Given the description of an element on the screen output the (x, y) to click on. 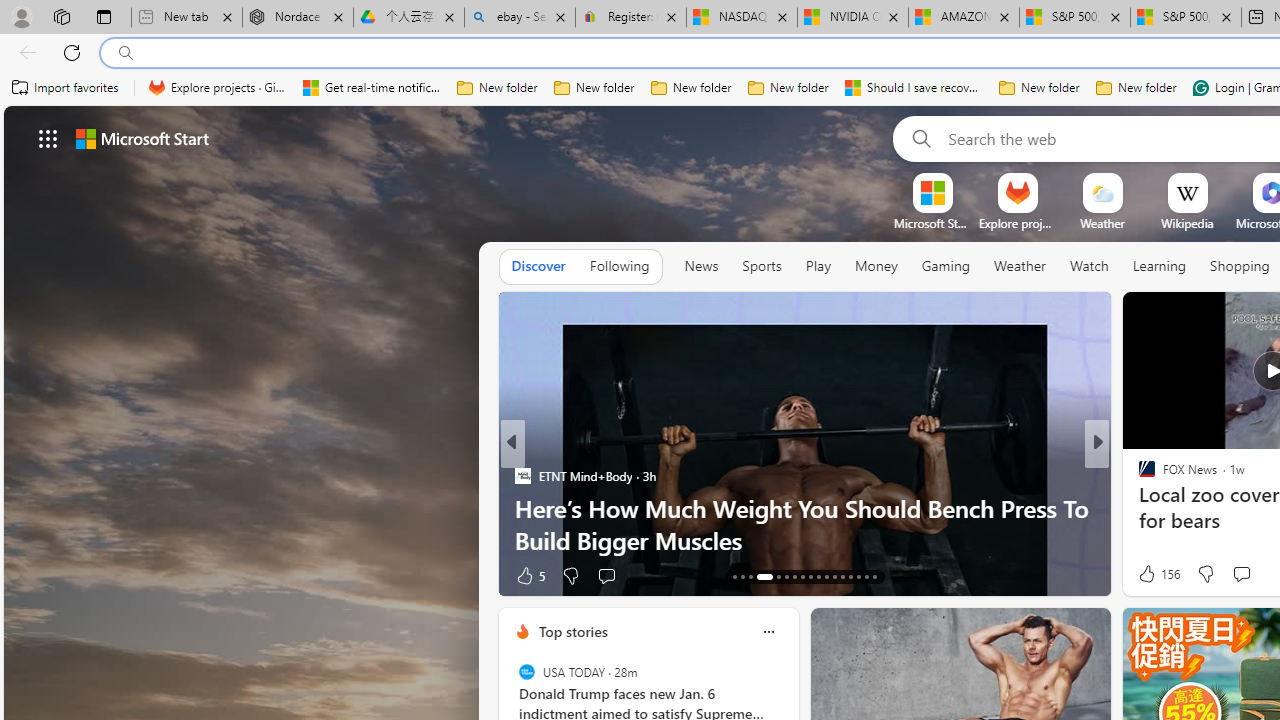
View comments 3 Comment (1234, 574)
Class: icon-img (768, 632)
Like (1140, 574)
5 Like (528, 574)
Wikipedia (1186, 223)
View comments 3 Comment (1229, 575)
Register: Create a personal eBay account (631, 17)
2k Like (1148, 574)
Should I save recovered Word documents? - Microsoft Support (913, 88)
13 Like (1149, 574)
AutomationID: tab-27 (857, 576)
88 Like (1149, 574)
